Given the description of an element on the screen output the (x, y) to click on. 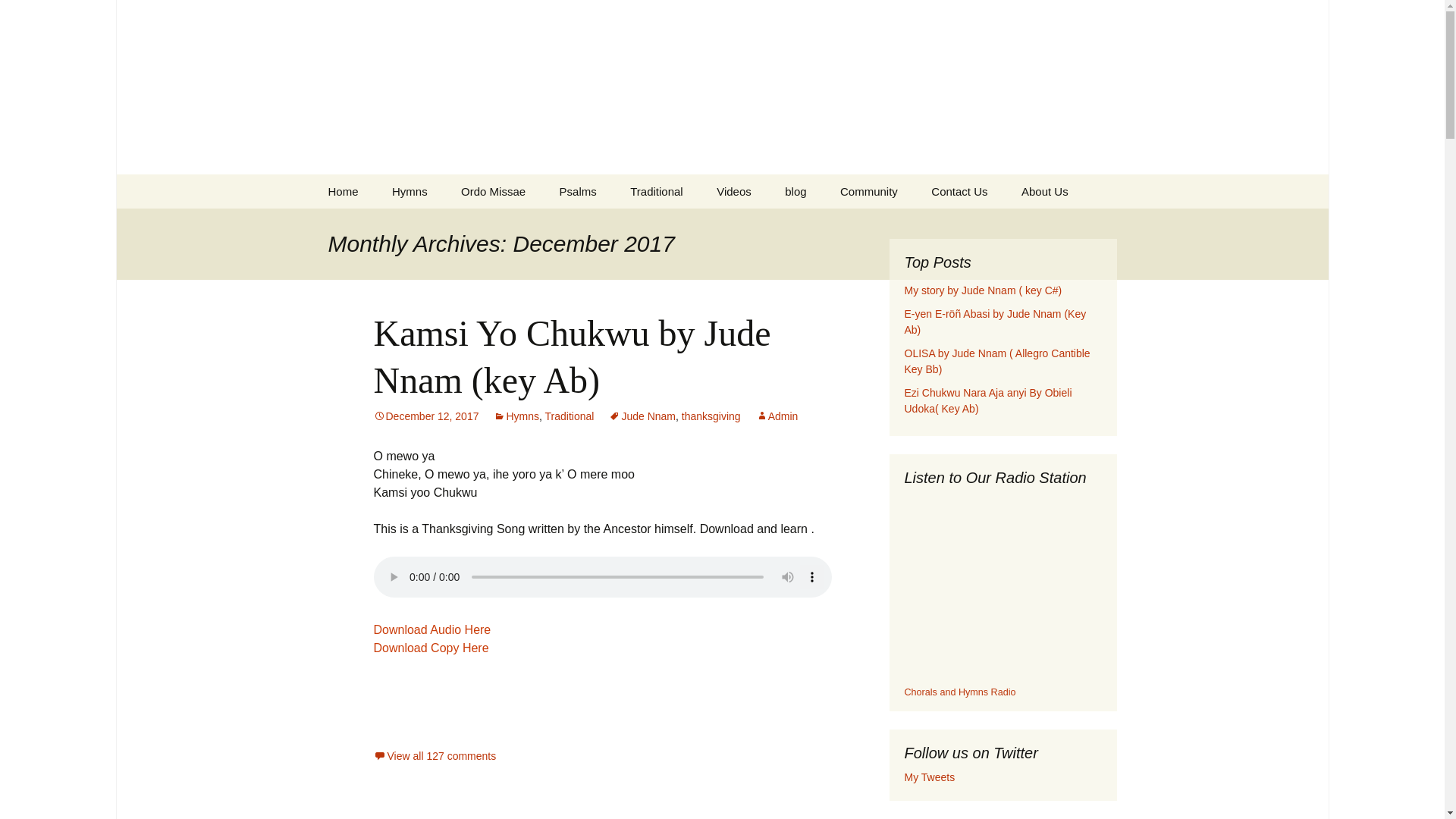
Community (868, 191)
Traditional (655, 191)
Download Audio Here  (432, 629)
December 12, 2017 (425, 416)
Search (18, 15)
Videos (734, 191)
View all 127 comments (434, 756)
Hymns (409, 191)
Hymns (515, 416)
